Given the description of an element on the screen output the (x, y) to click on. 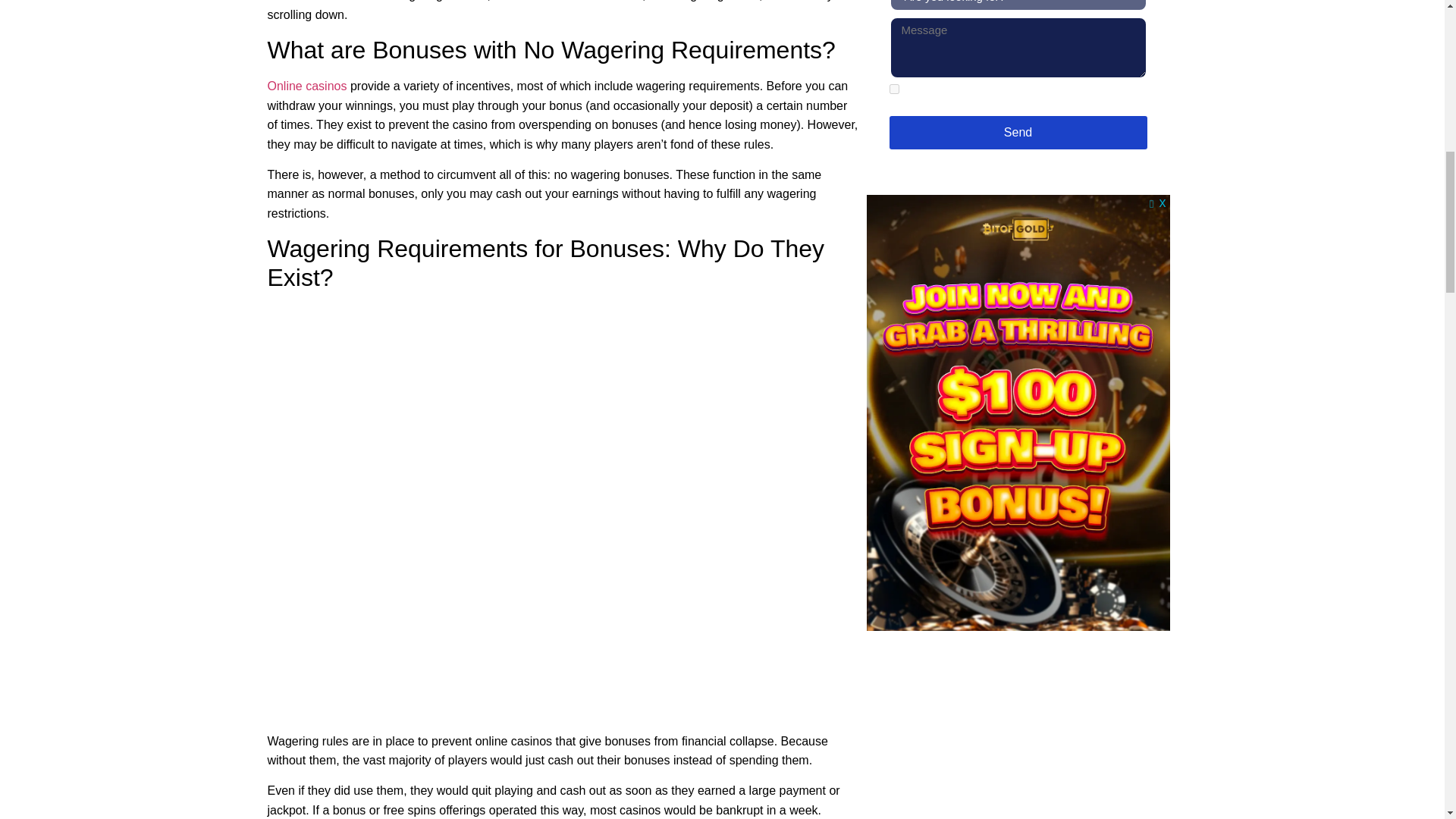
Send (1017, 132)
Terms and conditions (1000, 95)
1 (893, 89)
Online casinos (306, 85)
Send (1017, 132)
